Given the description of an element on the screen output the (x, y) to click on. 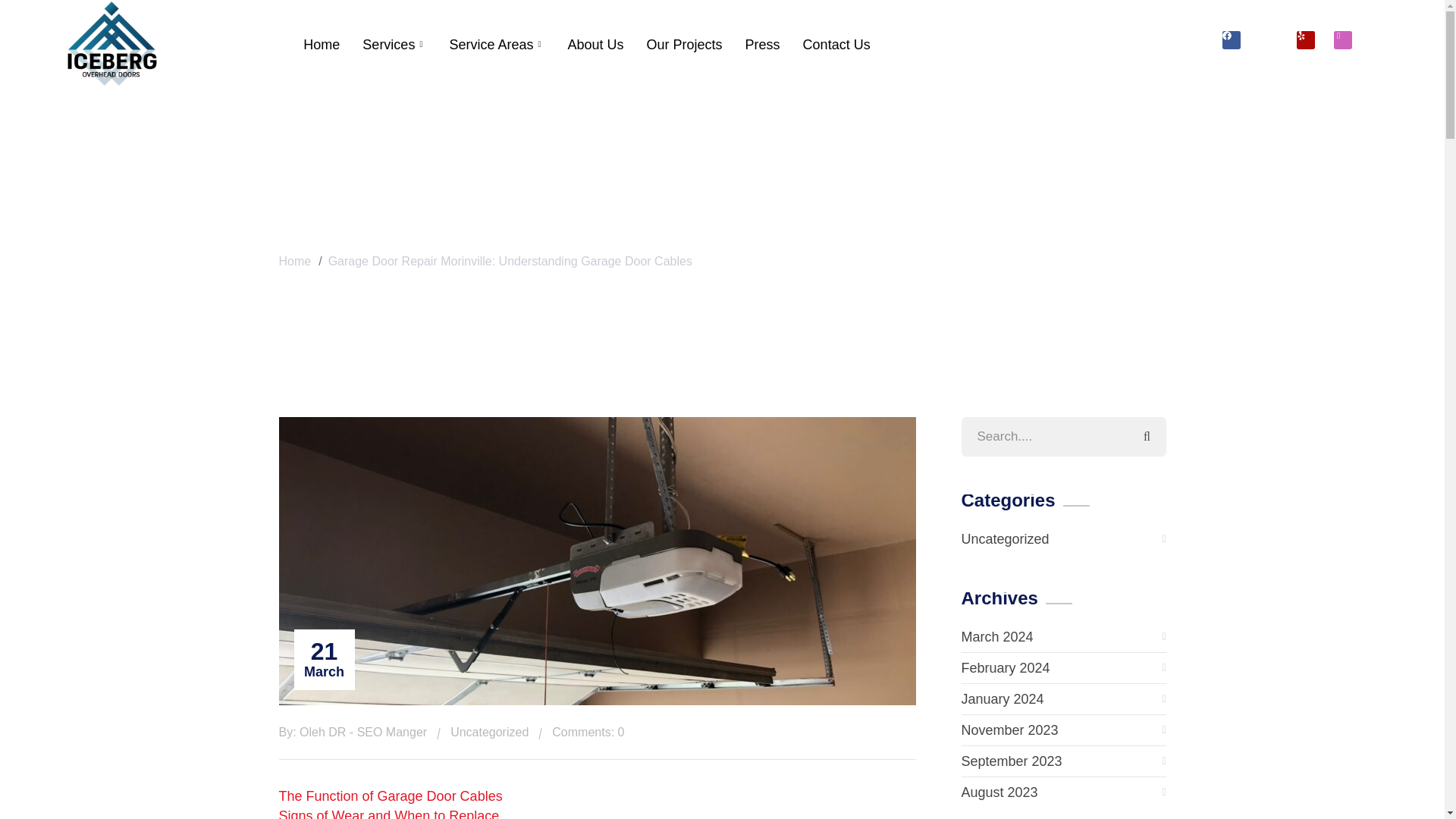
Services (394, 43)
Service Areas (497, 43)
Our Projects (683, 43)
Contact Us (837, 43)
Press (762, 43)
About Us (595, 43)
Home (321, 43)
